Given the description of an element on the screen output the (x, y) to click on. 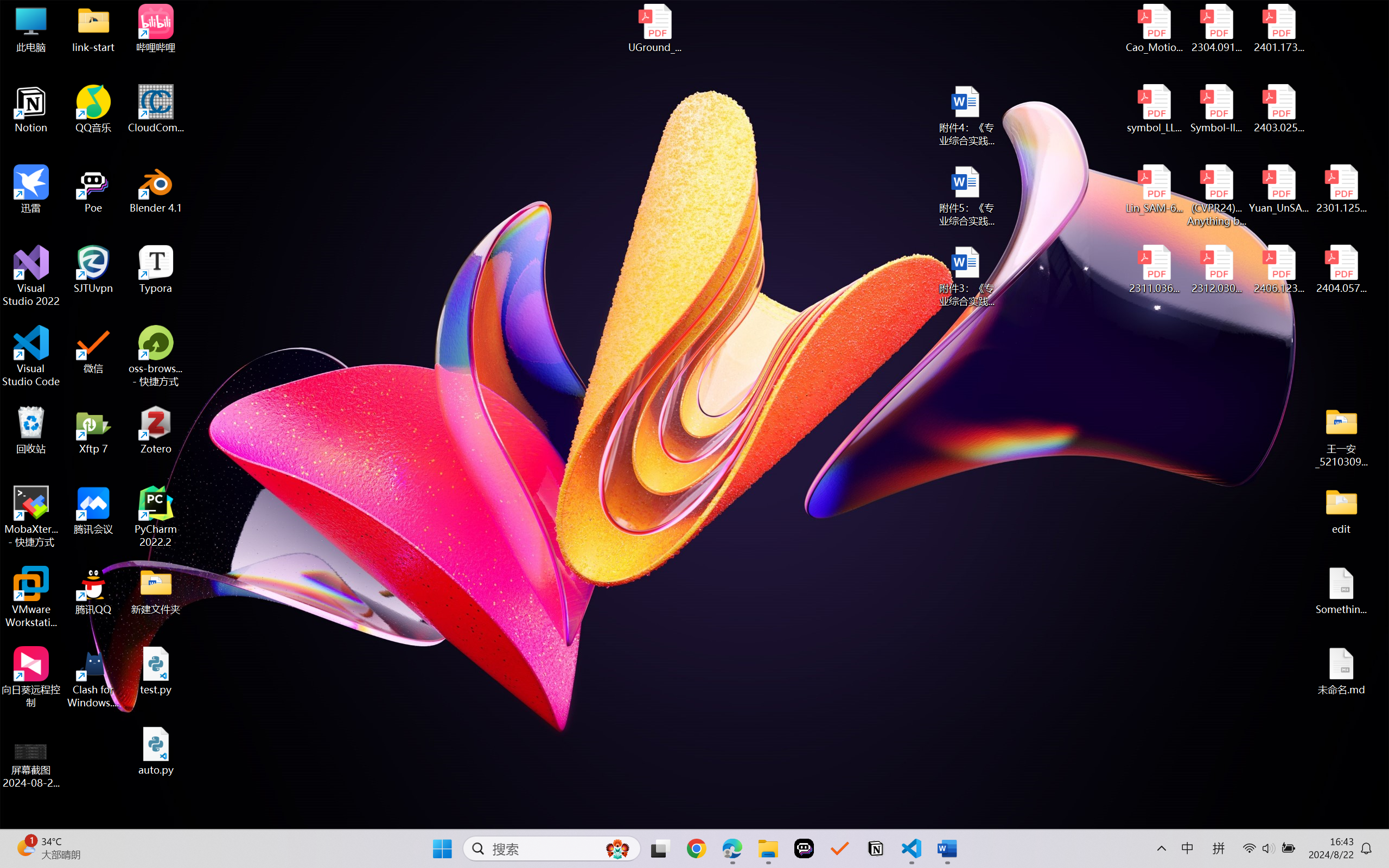
2401.17399v1.pdf (1278, 28)
UGround_paper.pdf (654, 28)
symbol_LLM.pdf (1154, 109)
test.py (156, 670)
